Given the description of an element on the screen output the (x, y) to click on. 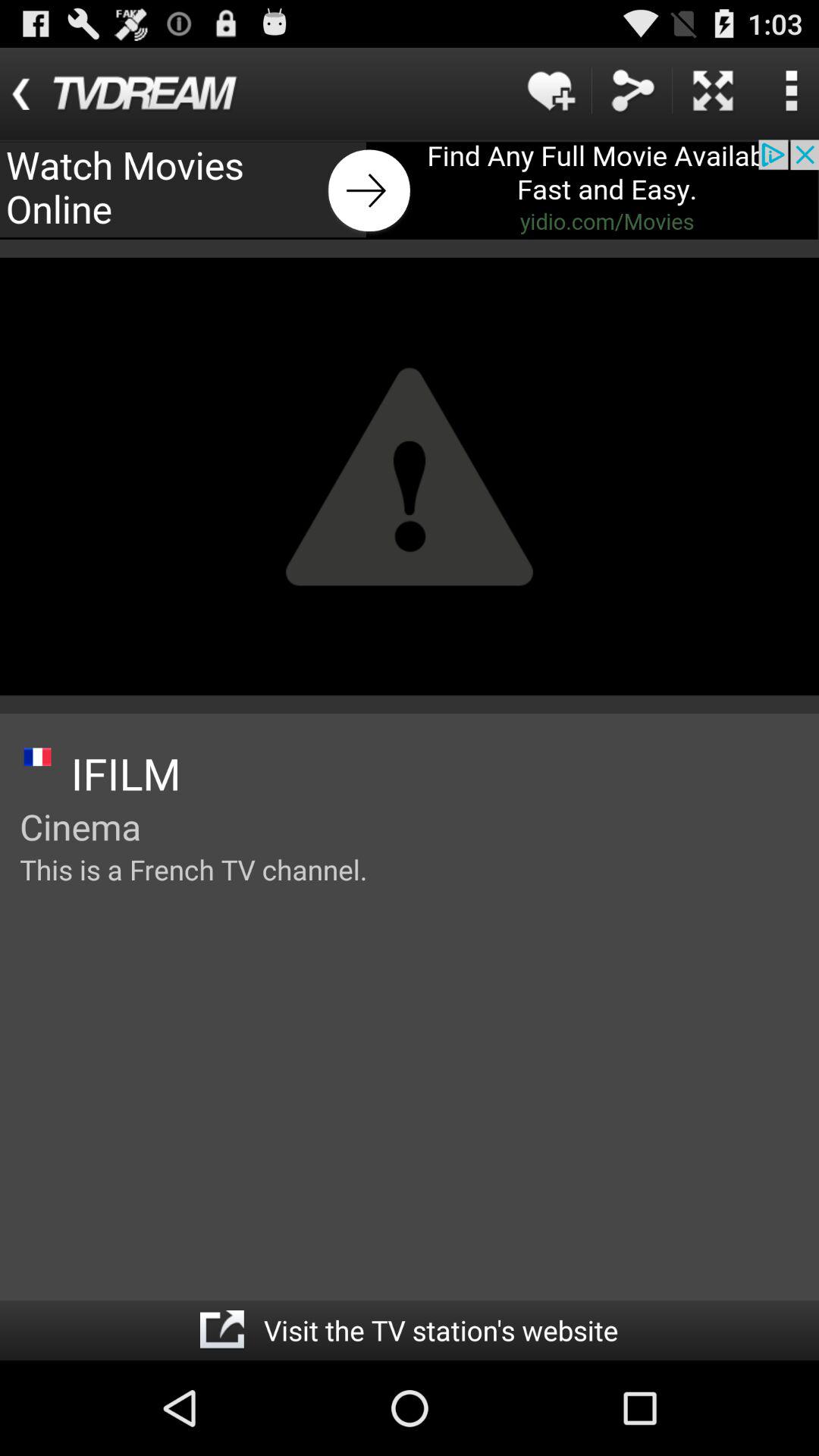
go to website (221, 1330)
